Given the description of an element on the screen output the (x, y) to click on. 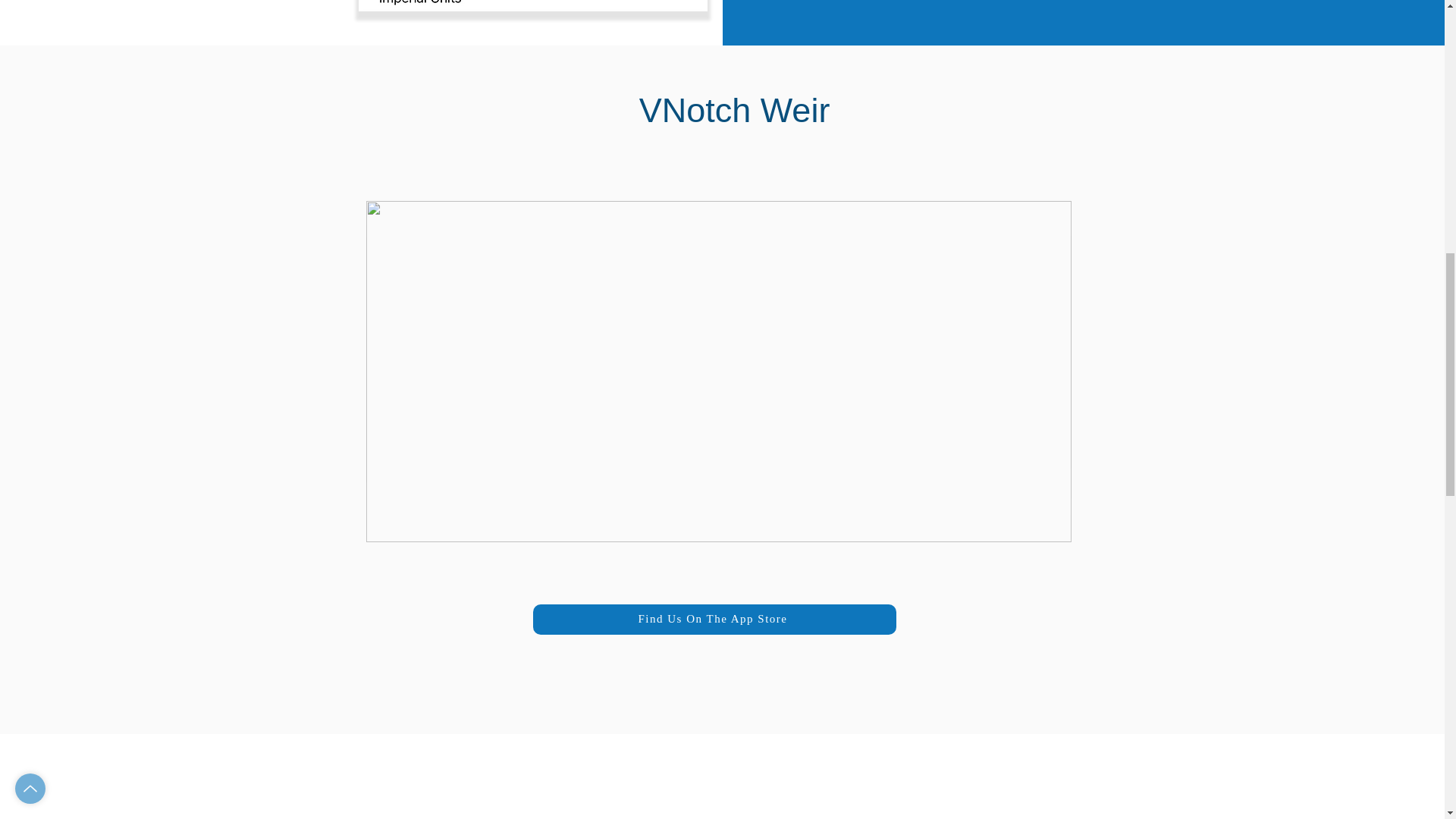
Find Us On The App Store (713, 618)
